Given the description of an element on the screen output the (x, y) to click on. 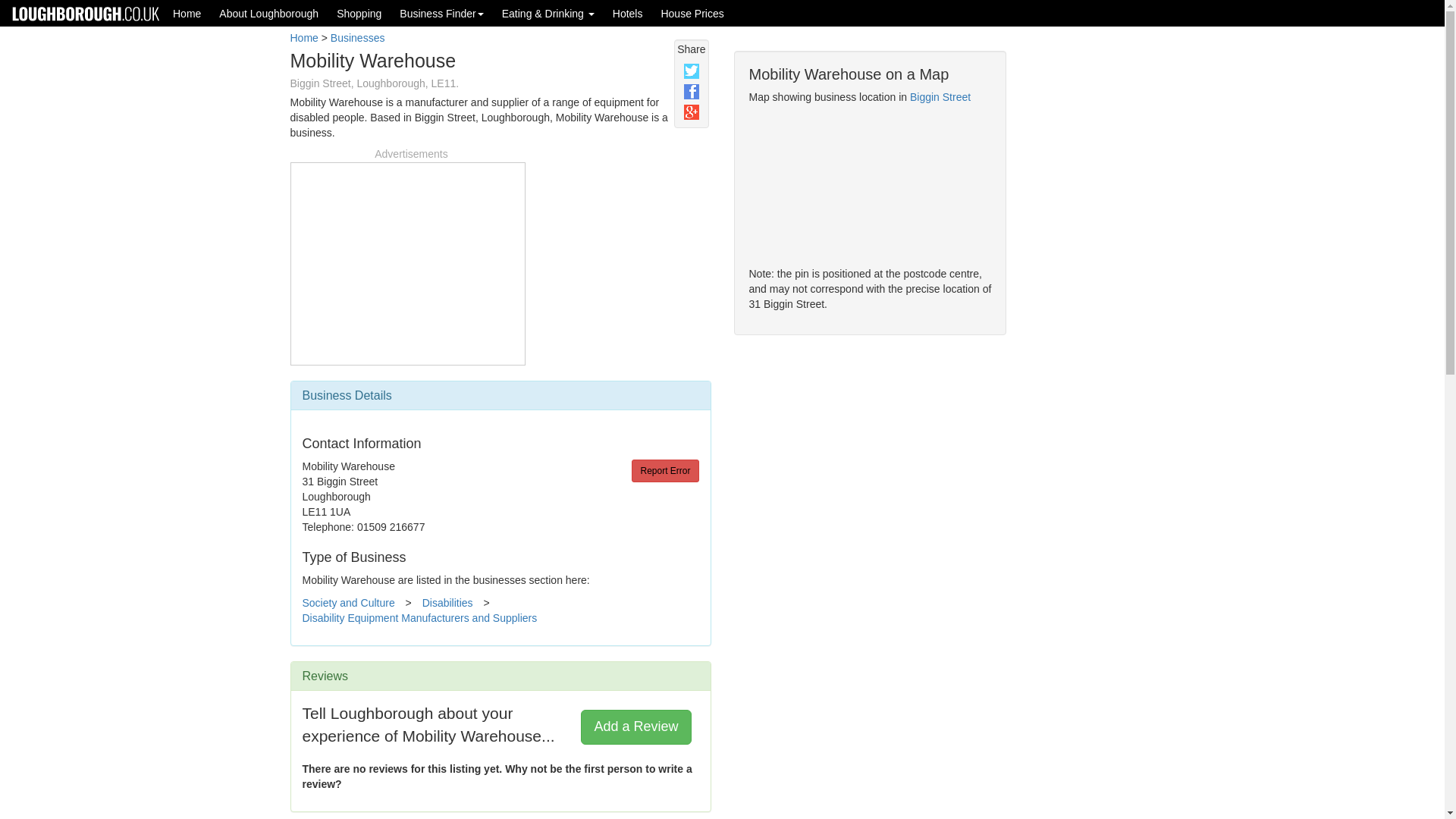
Business Finder (441, 12)
Businesses (357, 37)
Society and Culture (347, 603)
Report Error (664, 470)
Report Error (664, 470)
House Prices (691, 12)
Hotels (628, 12)
Disability Equipment Manufacturers and Suppliers (419, 617)
Add a Review (635, 727)
Shopping (358, 12)
Home (186, 12)
Home (303, 37)
Biggin Street (940, 96)
About Loughborough (268, 12)
Disabilities (447, 603)
